Given the description of an element on the screen output the (x, y) to click on. 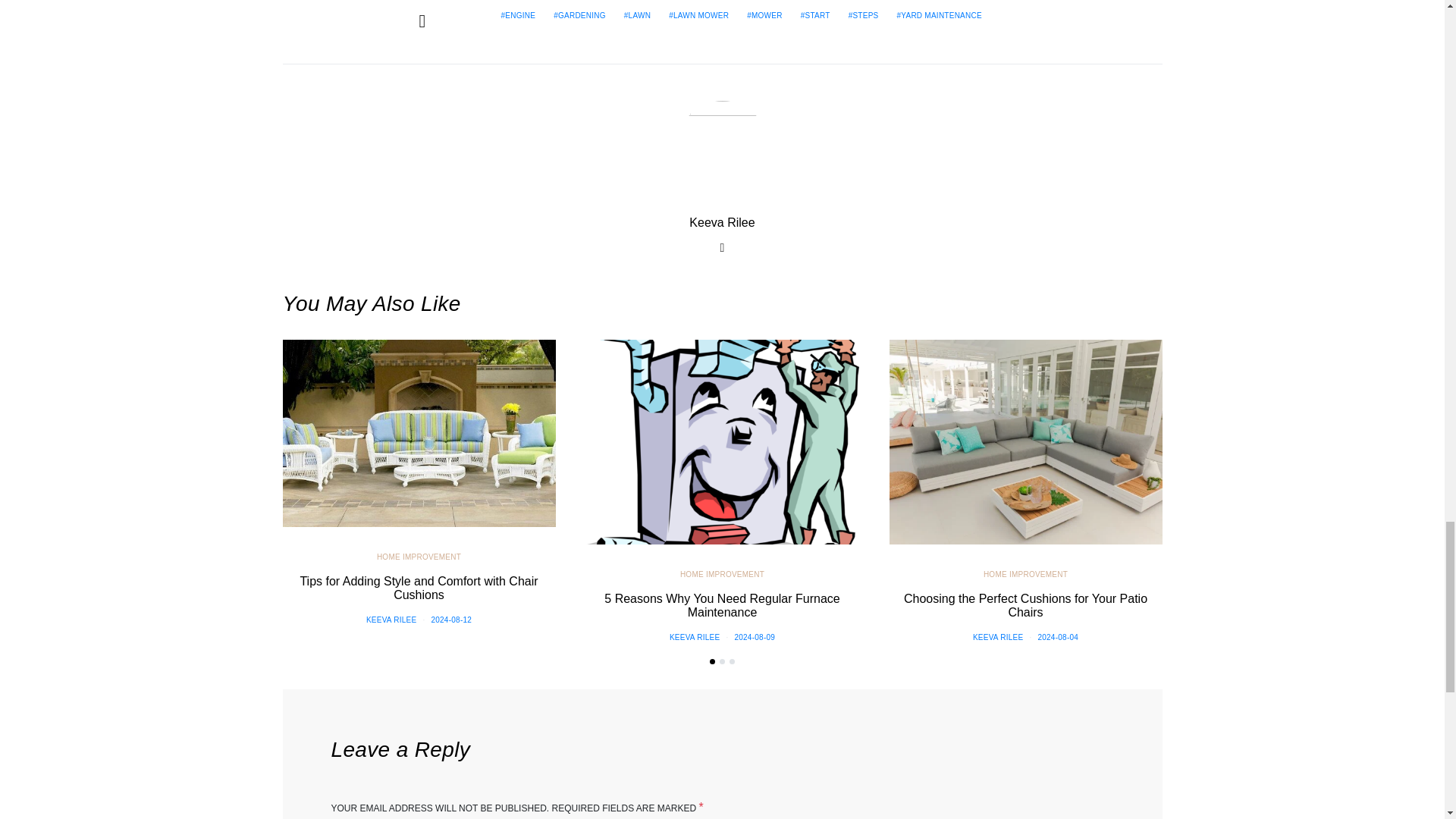
View all posts by Keeva Rilee (694, 637)
View all posts by Keeva Rilee (391, 619)
View all posts by Keeva Rilee (997, 637)
